Given the description of an element on the screen output the (x, y) to click on. 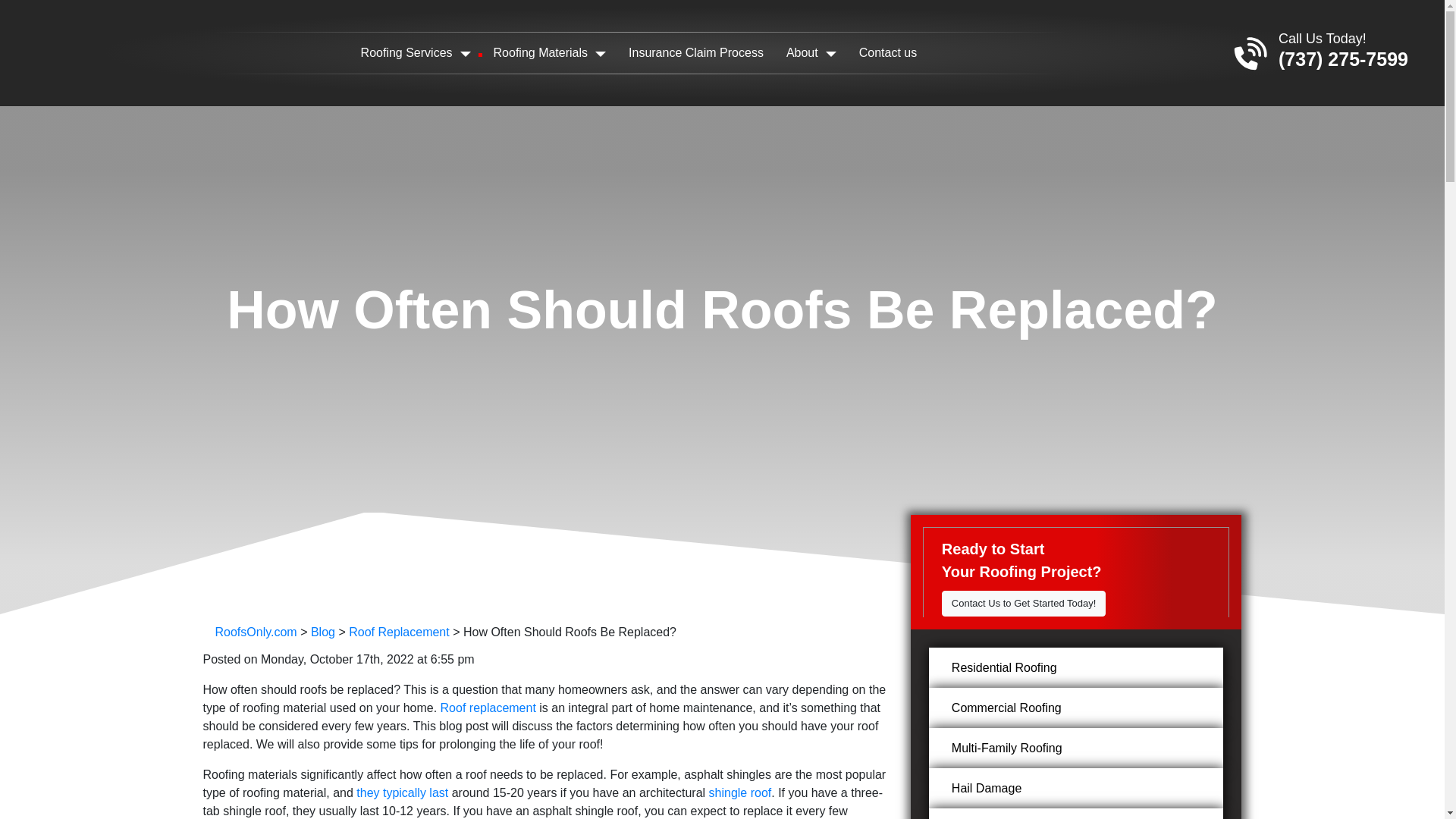
Roofing Services (415, 51)
RoofsOnly.com (256, 631)
Go to the Roof Replacement Category archives. (399, 631)
About (810, 51)
Blog (322, 631)
Roof replacement (488, 707)
Roof Replacement (399, 631)
Contact us (888, 51)
Go to Blog. (322, 631)
Insurance Claim Process (695, 51)
